Given the description of an element on the screen output the (x, y) to click on. 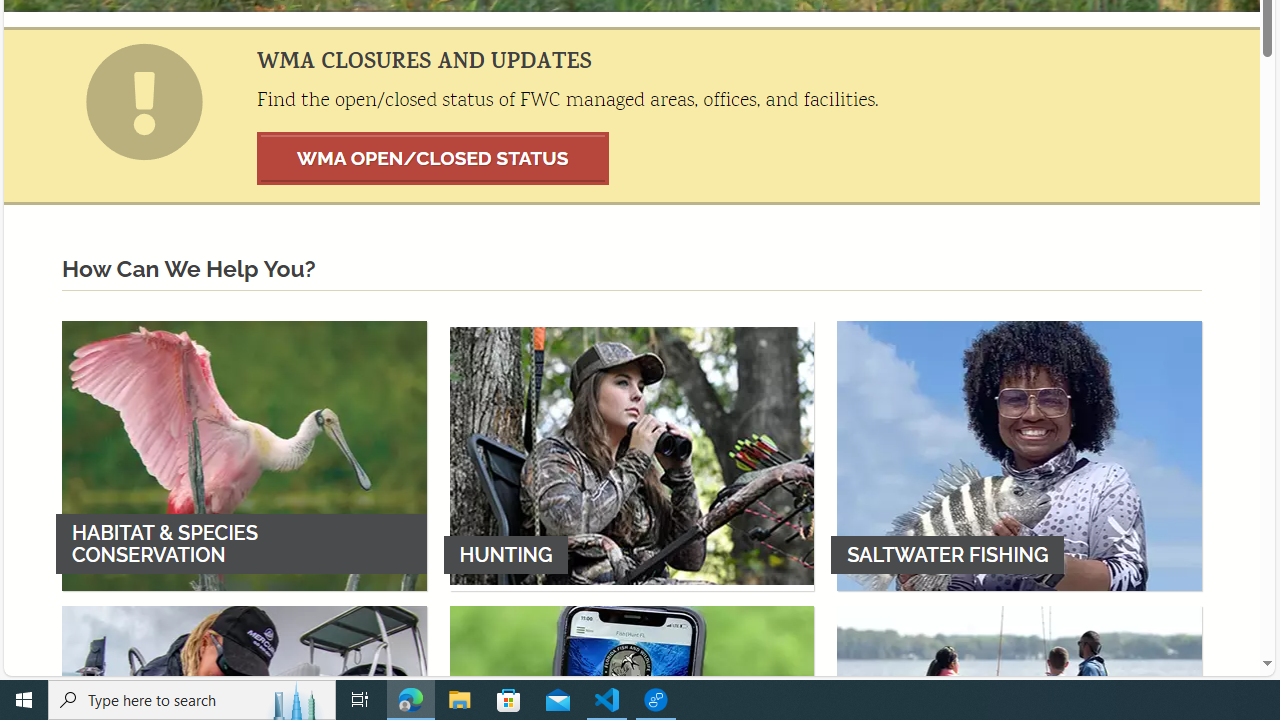
HABITAT & SPECIES CONSERVATION (244, 455)
WMA OPEN/CLOSED STATUS (433, 158)
HUNTING (632, 455)
SALTWATER FISHING (1019, 455)
